Given the description of an element on the screen output the (x, y) to click on. 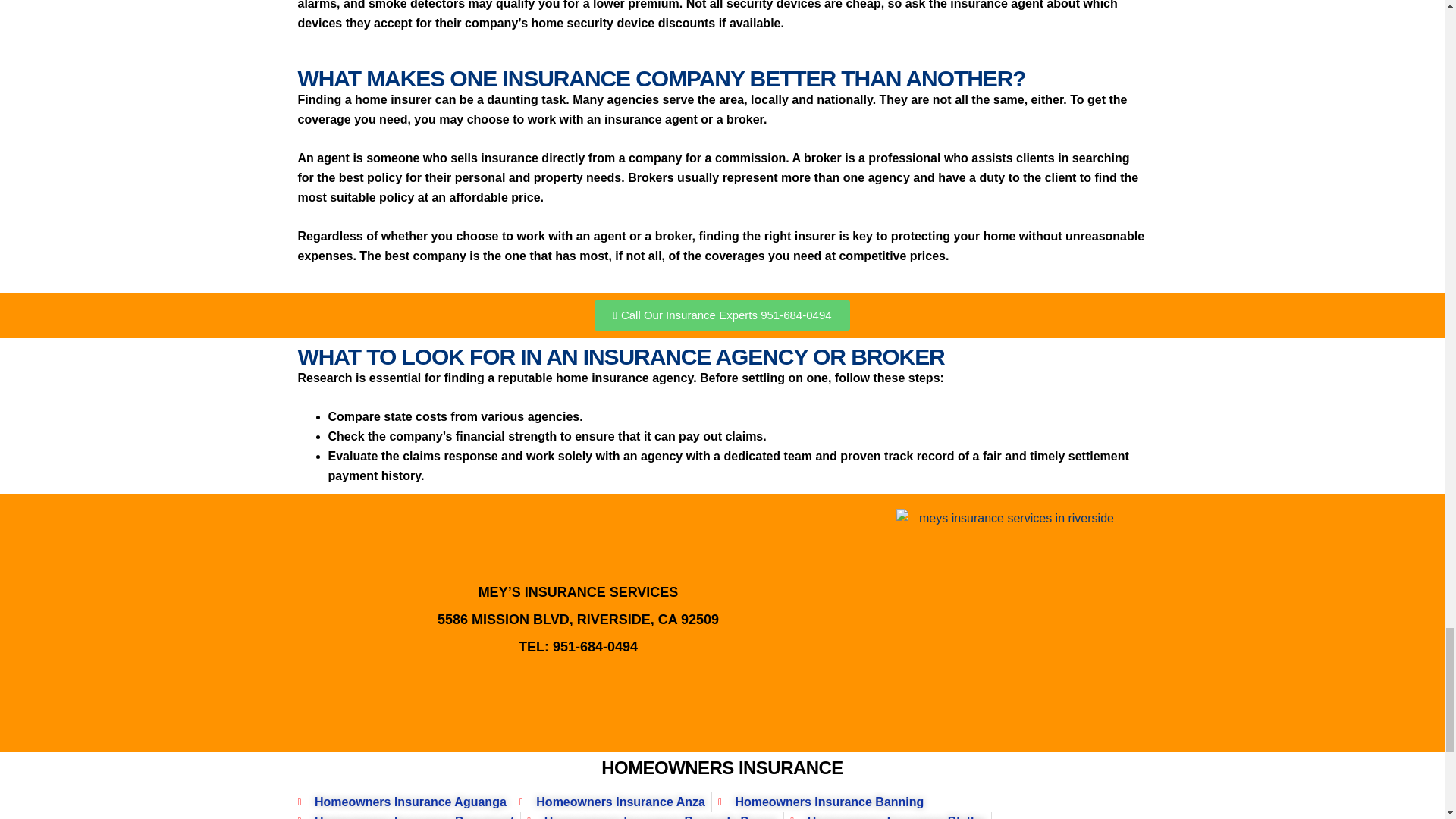
Homeowners Insurance Banning (820, 802)
Homeowners Insurance Aguanga (401, 802)
HOMEOWNERS INSURANCE (722, 767)
Homeowners Insurance Bermuda Dunes (652, 815)
Call Our Insurance Experts 951-684-0494 (721, 315)
Homeowners Insurance Beaumont (405, 815)
Homeowners Insurance Anza (611, 802)
Homeowners Insurance Blythe (887, 815)
